Given the description of an element on the screen output the (x, y) to click on. 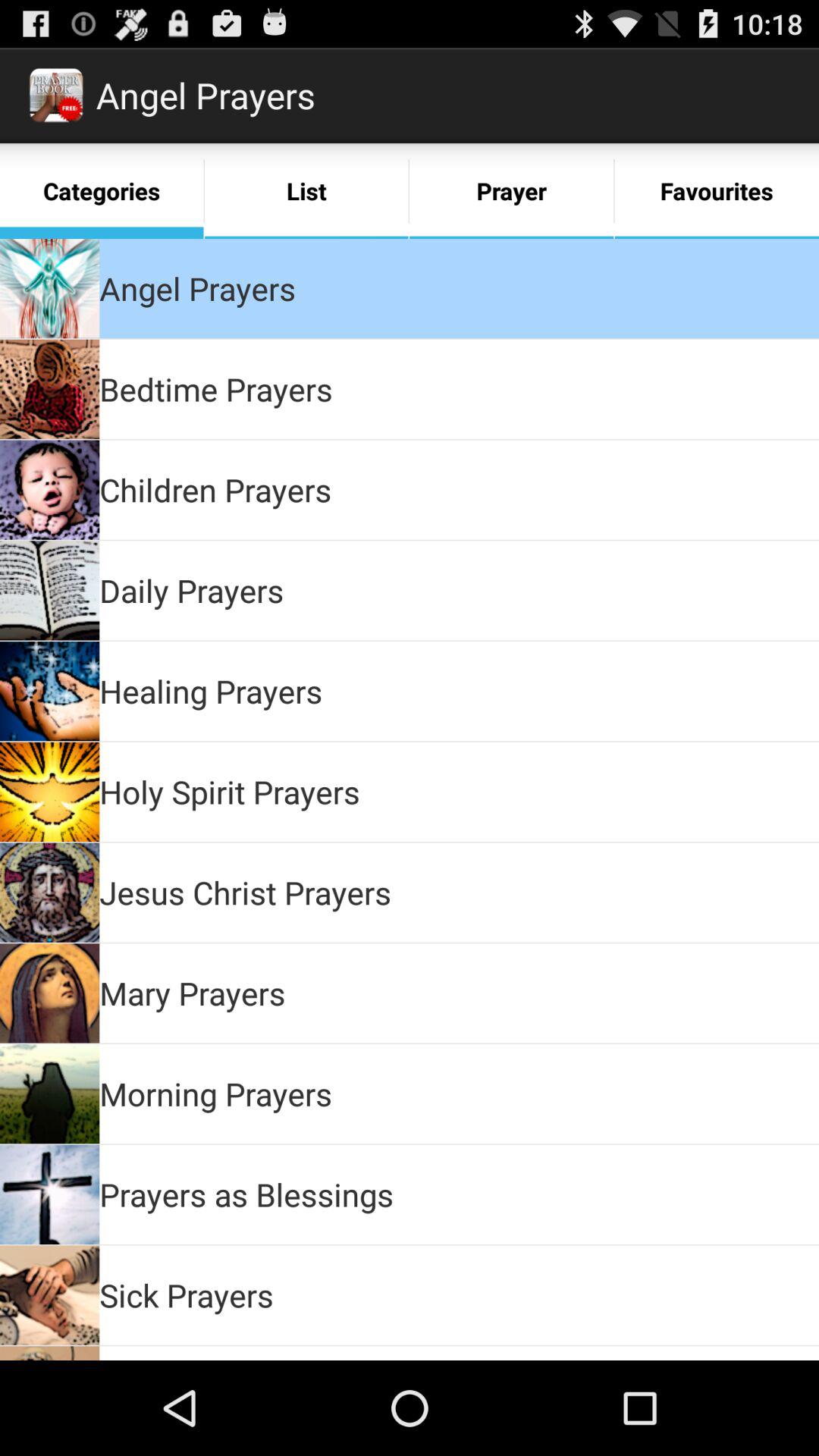
scroll until holy spirit prayers app (229, 791)
